Given the description of an element on the screen output the (x, y) to click on. 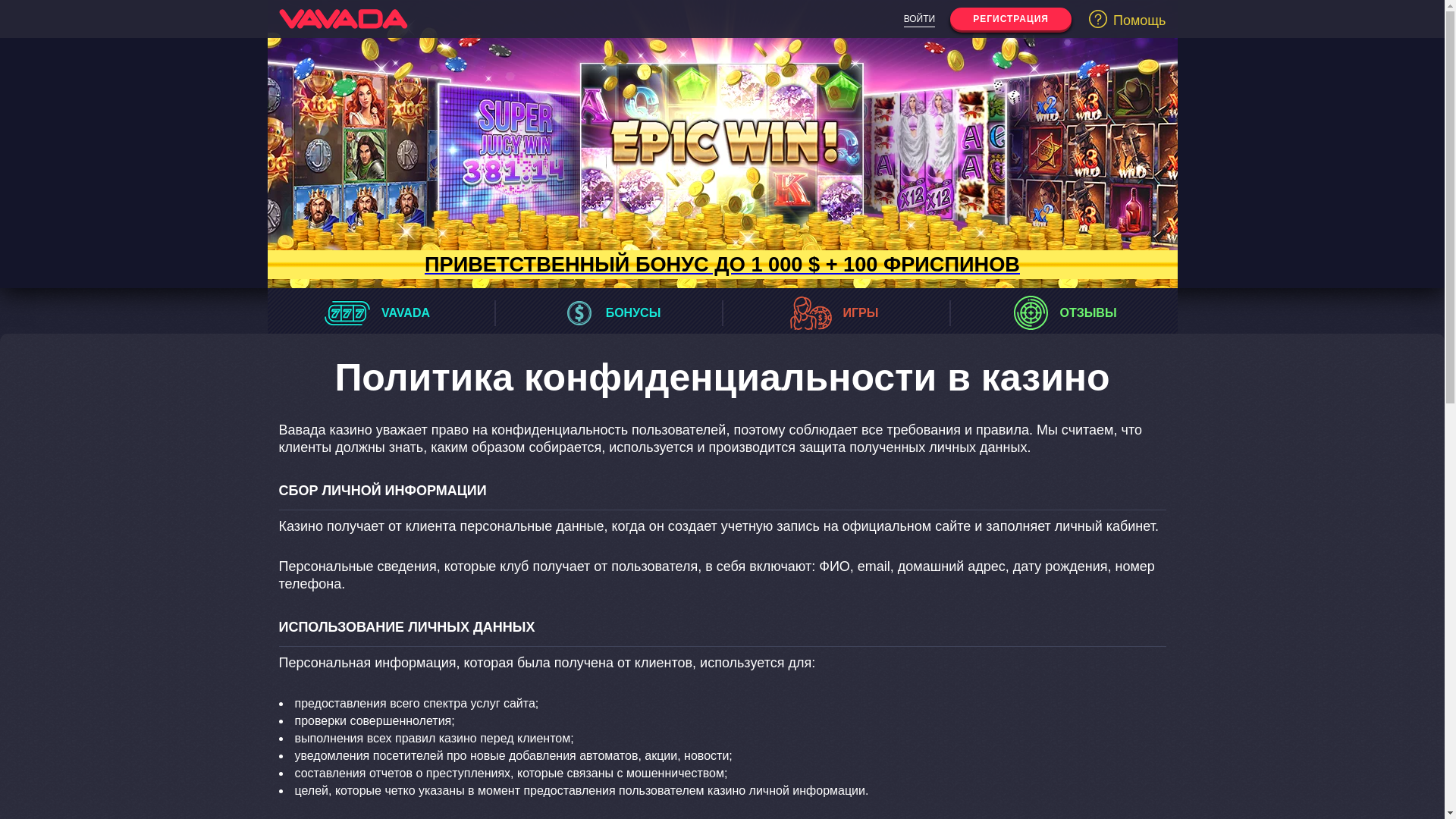
VAVADA Element type: text (380, 312)
